Given the description of an element on the screen output the (x, y) to click on. 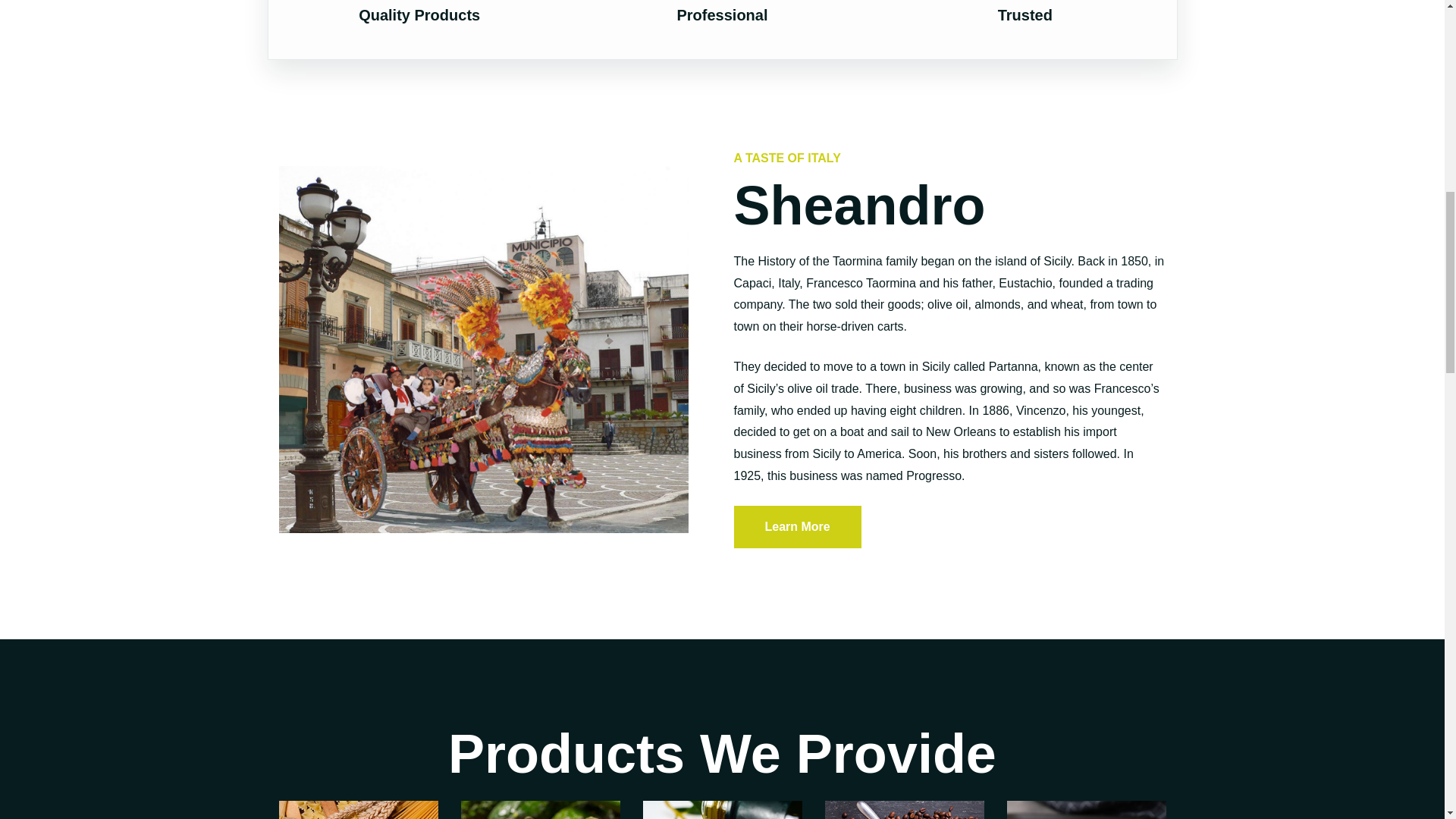
Learn More (797, 526)
